Given the description of an element on the screen output the (x, y) to click on. 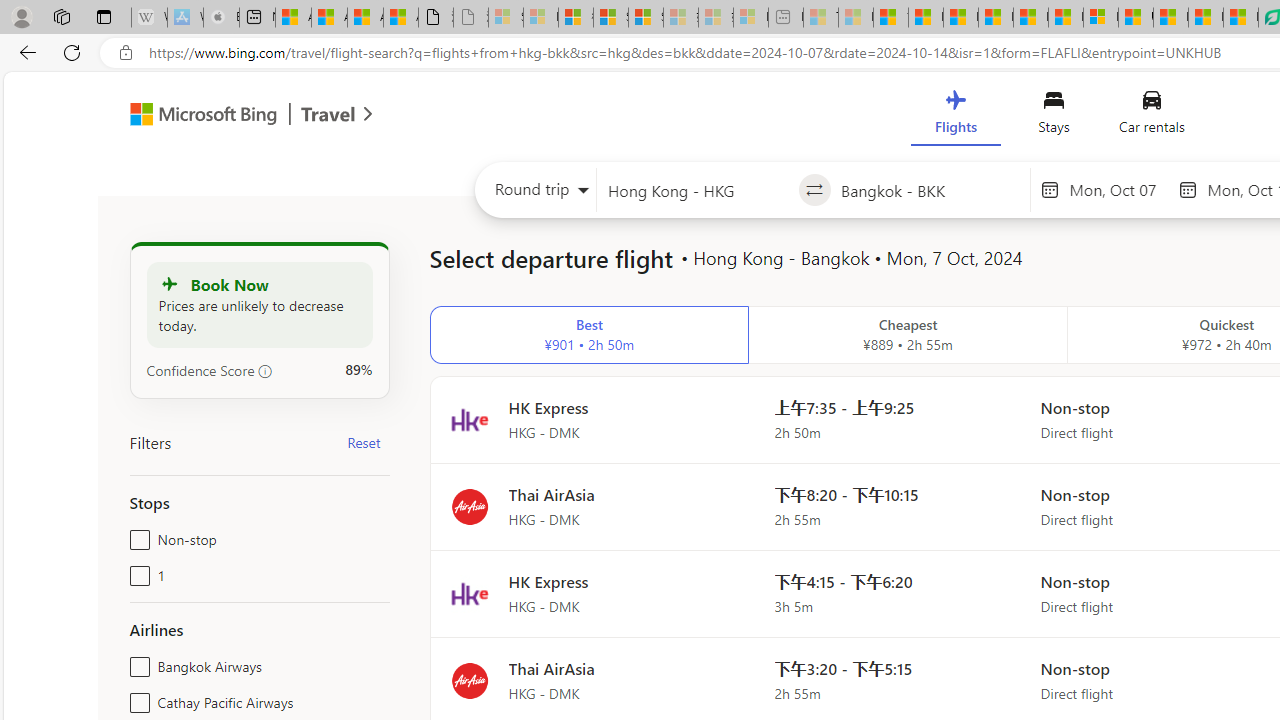
Food and Drink - MSN (925, 17)
Wikipedia - Sleeping (149, 17)
Leaving from? (697, 190)
US Heat Deaths Soared To Record High Last Year (1135, 17)
Microsoft Bing Travel (229, 116)
Class: msft-travel-logo (328, 114)
